Given the description of an element on the screen output the (x, y) to click on. 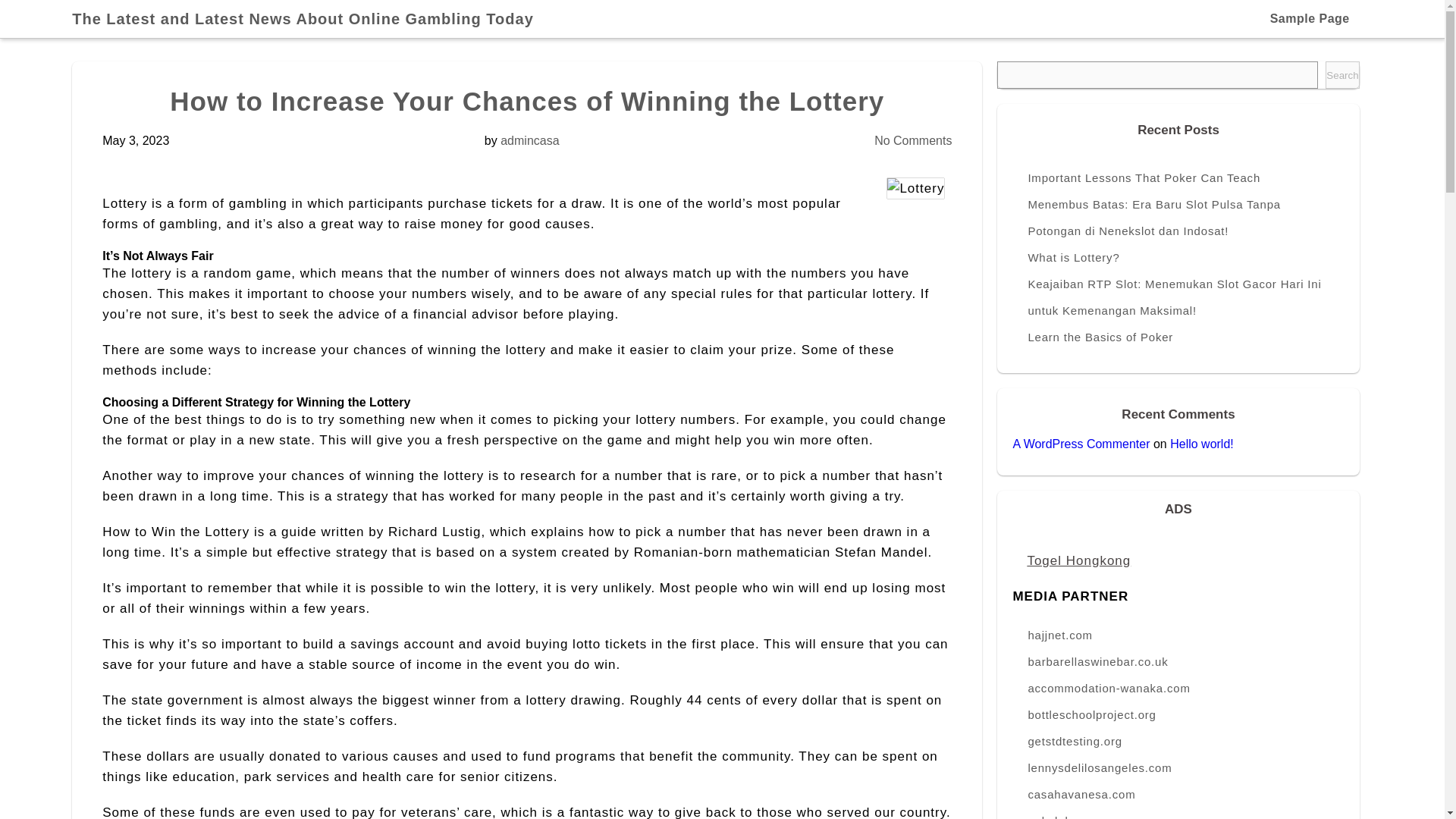
Posts by admincasa (529, 140)
barbarellaswinebar.co.uk (1177, 661)
The Latest and Latest News About Online Gambling Today (309, 18)
bottleschoolproject.org (1177, 714)
casahavanesa.com (1177, 794)
admincasa (529, 140)
pokelol.com (1177, 813)
Learn the Basics of Poker (1177, 336)
Important Lessons That Poker Can Teach (1177, 177)
